Given the description of an element on the screen output the (x, y) to click on. 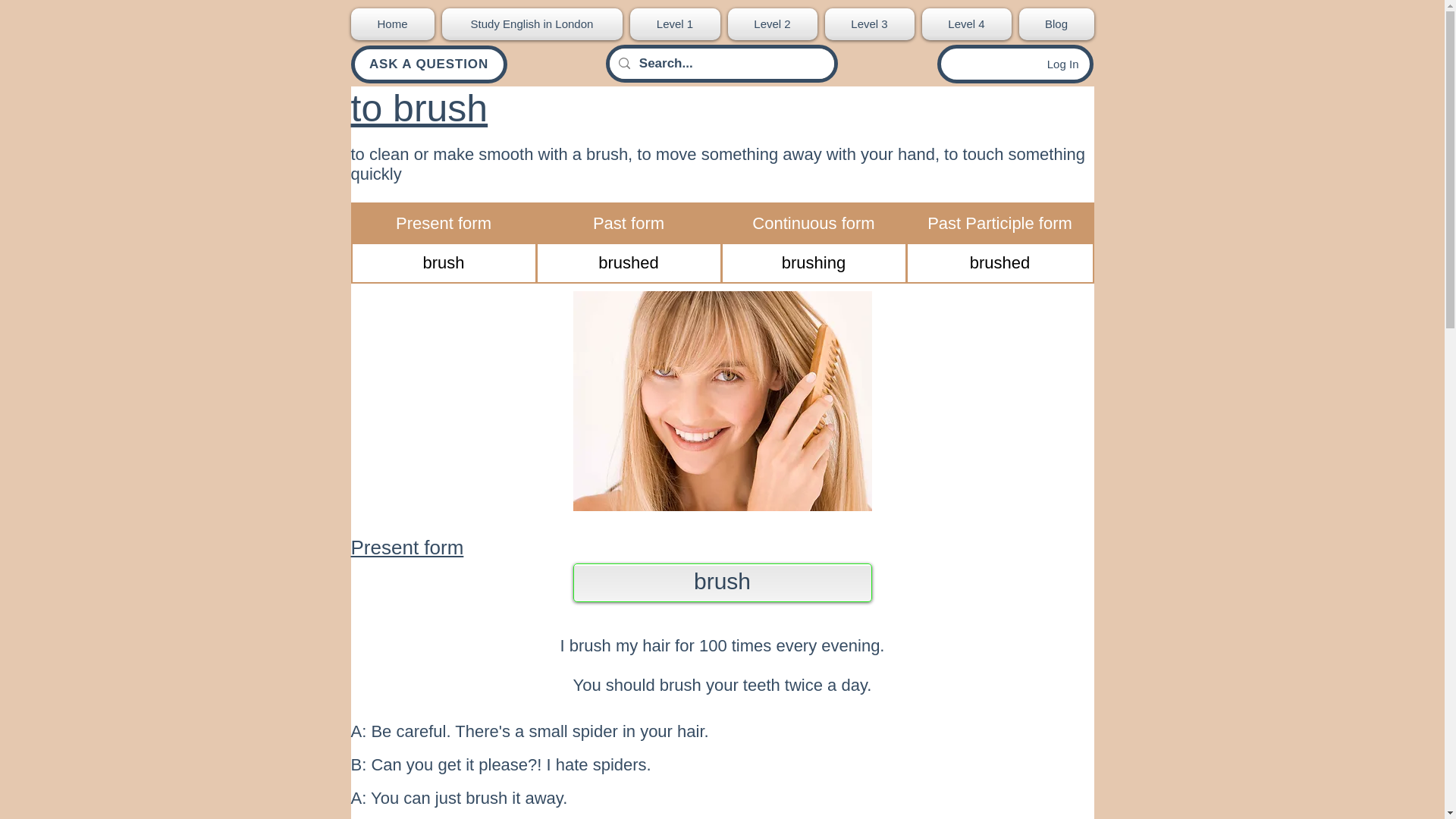
Brushing Hair.jpg (722, 401)
Level 3 (869, 24)
ASK A QUESTION (428, 64)
Level 1 (674, 24)
Blog (1053, 24)
Home (394, 24)
Log In (1062, 63)
Level 4 (965, 24)
Study English in London (532, 24)
Level 2 (772, 24)
